Given the description of an element on the screen output the (x, y) to click on. 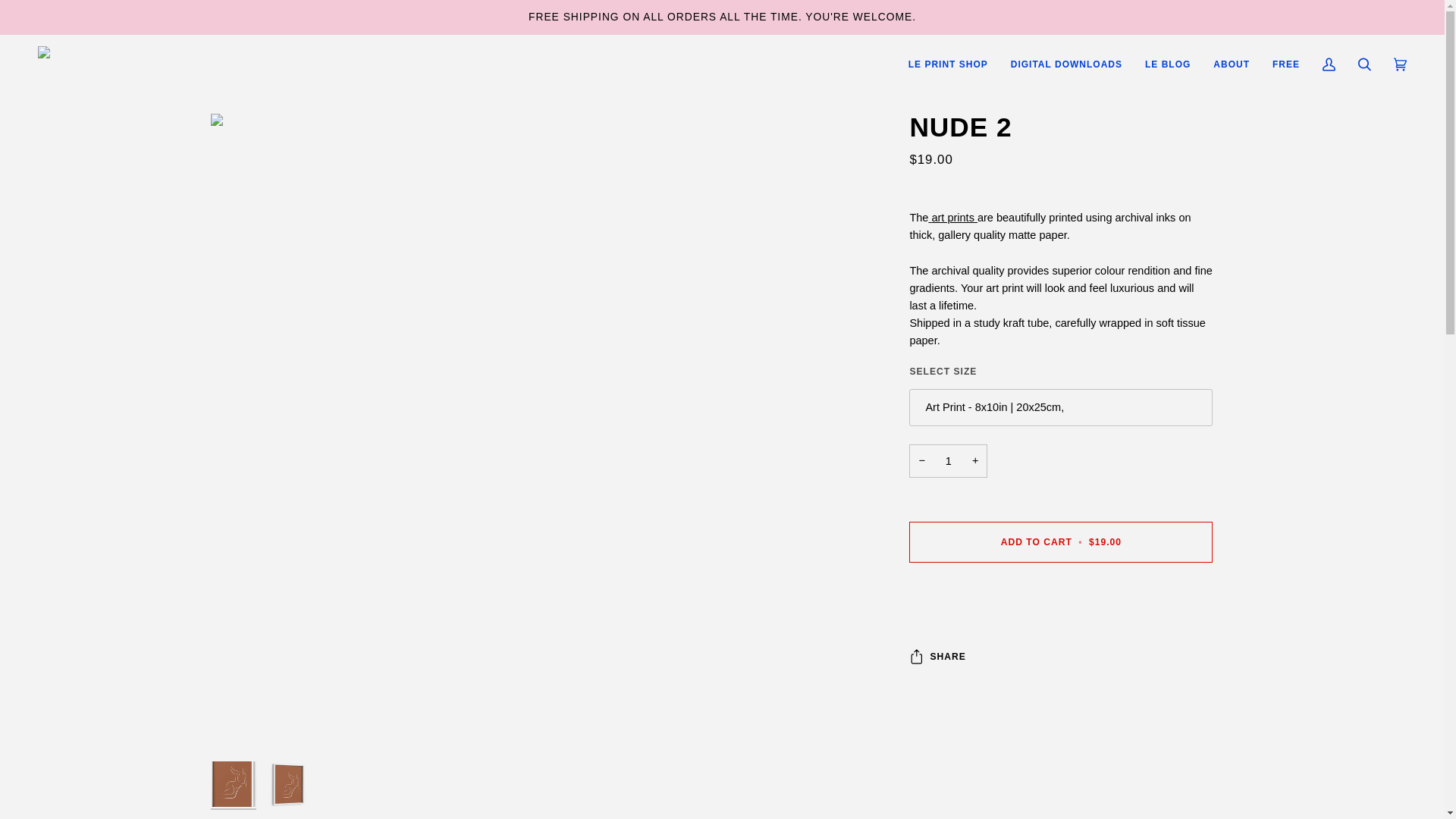
ABOUT (1231, 65)
LE PRINT SHOP (947, 65)
print shop (952, 217)
DIGITAL DOWNLOADS (1066, 65)
1 (947, 461)
LE BLOG (1168, 65)
